Given the description of an element on the screen output the (x, y) to click on. 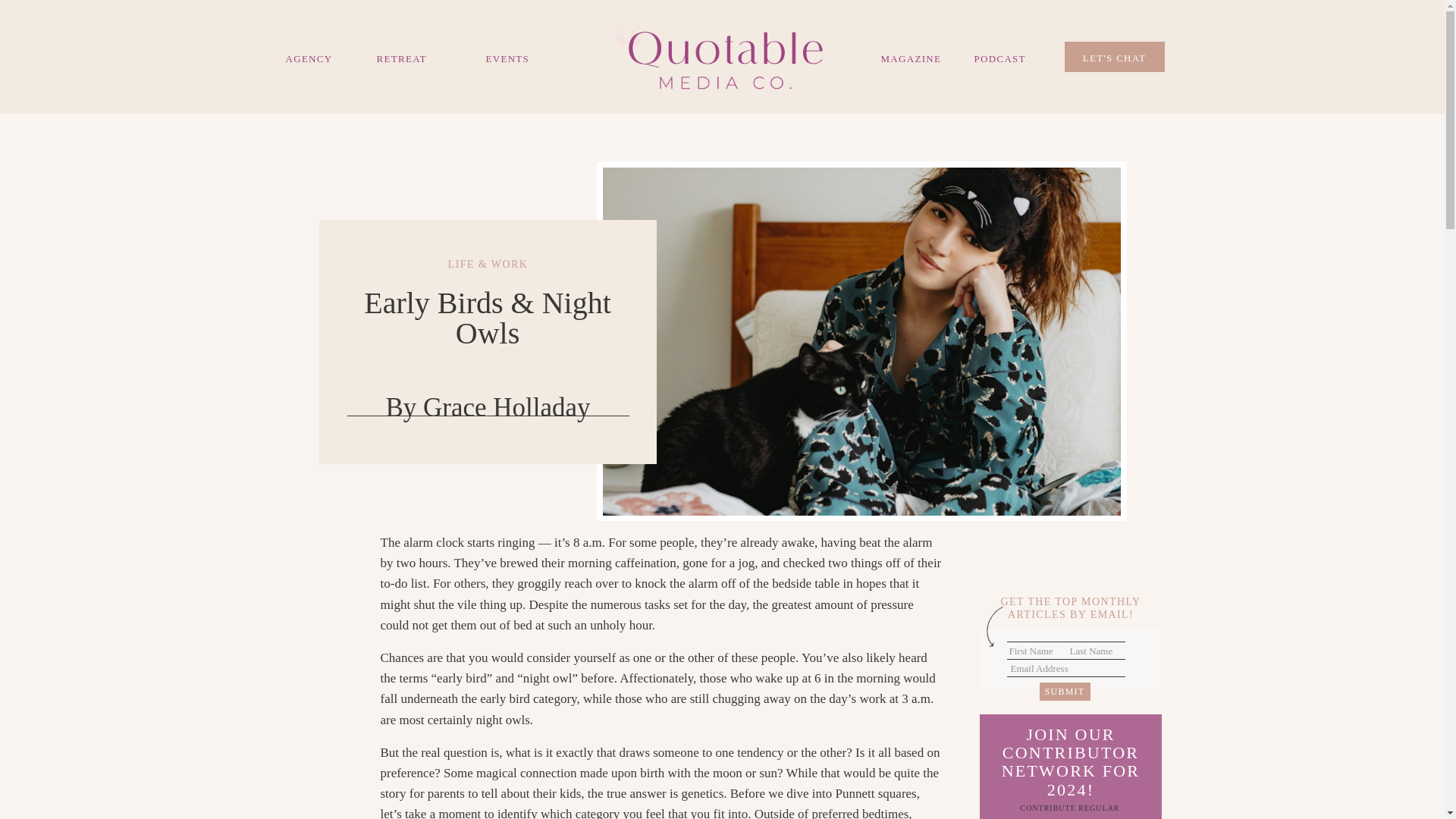
PODCAST (1003, 56)
MAGAZINE (913, 56)
EVENTS (534, 56)
By Grace Holladay (487, 407)
SUBMIT (1064, 692)
RETREAT (409, 57)
AGENCY (307, 56)
LET'S CHAT (1114, 56)
JOIN OUR CONTRIBUTOR NETWORK FOR 2024! (1070, 763)
